Given the description of an element on the screen output the (x, y) to click on. 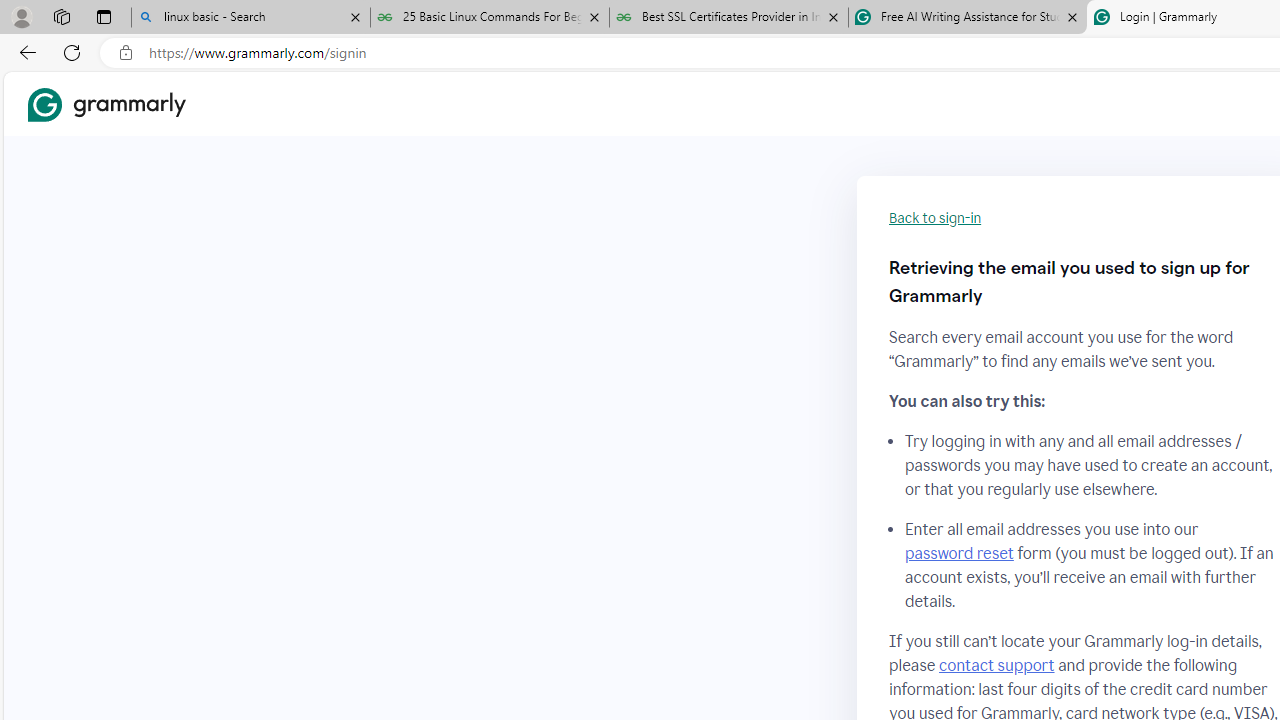
linux basic - Search (250, 17)
